Given the description of an element on the screen output the (x, y) to click on. 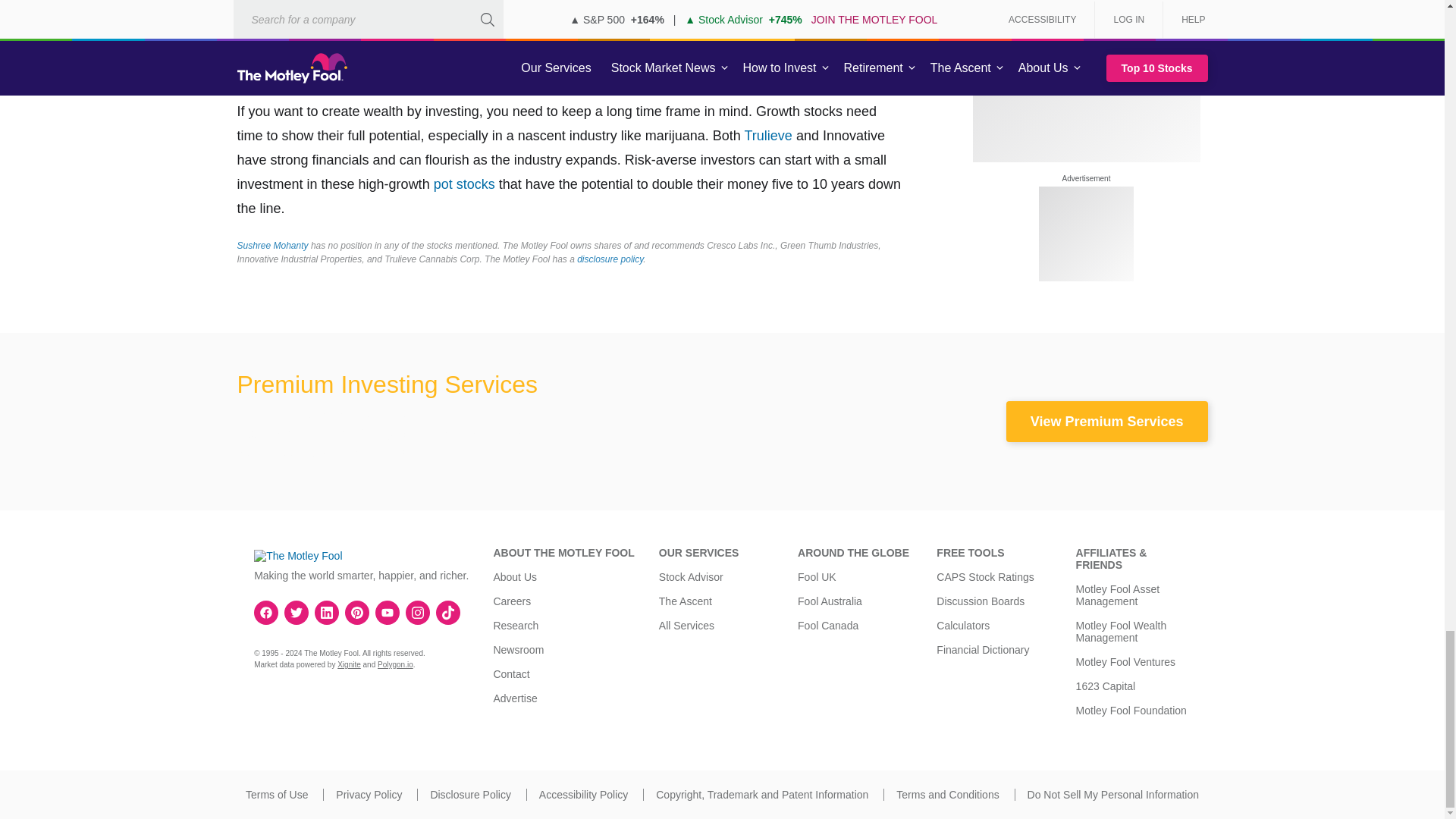
Accessibility Policy (582, 794)
Disclosure Policy (470, 794)
Do Not Sell My Personal Information. (1112, 794)
Terms of Use (276, 794)
Terms and Conditions (947, 794)
Privacy Policy (368, 794)
Copyright, Trademark and Patent Information (761, 794)
